Given the description of an element on the screen output the (x, y) to click on. 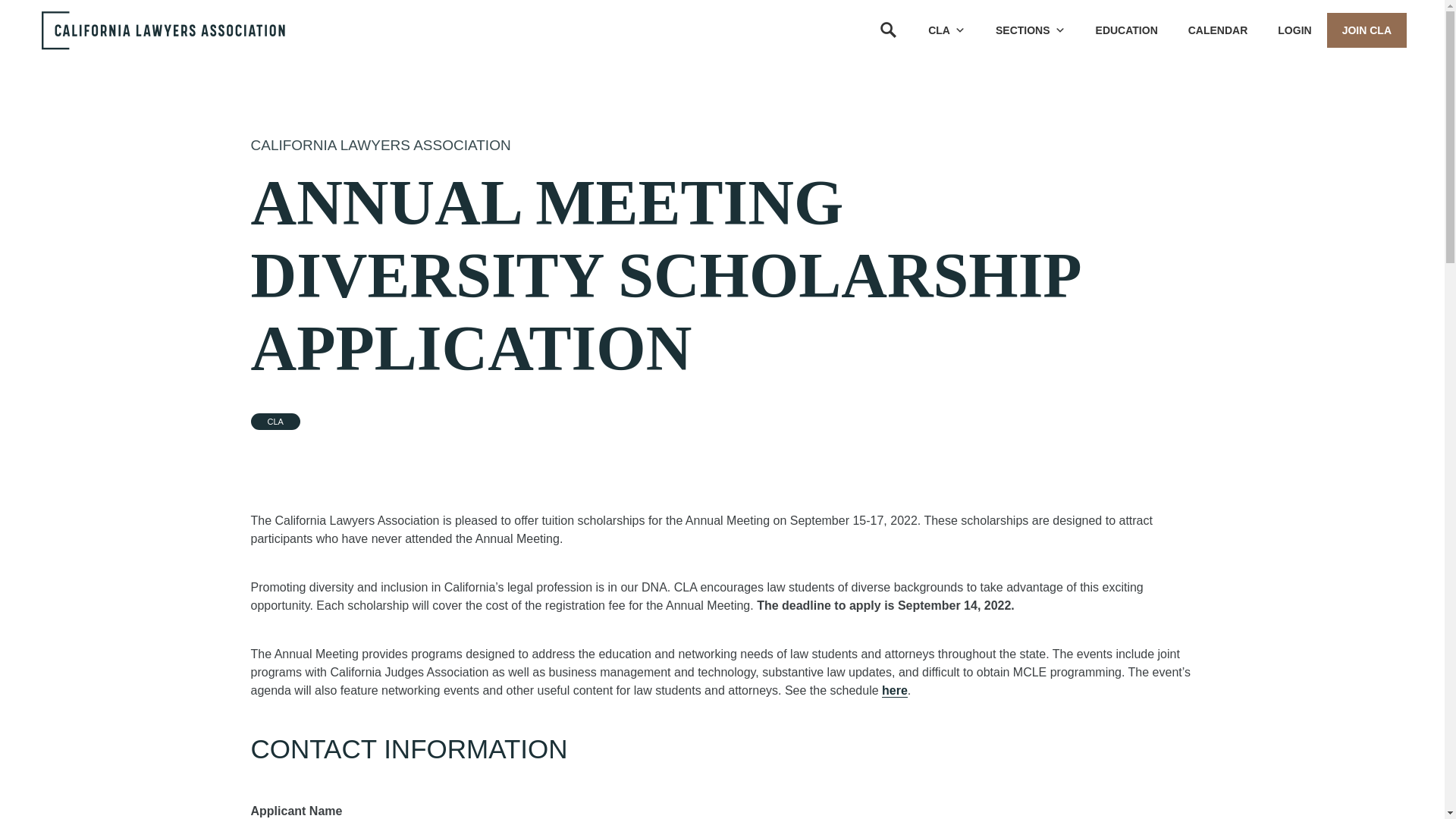
CLA (945, 30)
SECTIONS (1029, 30)
California Lawyers Association (380, 145)
